Given the description of an element on the screen output the (x, y) to click on. 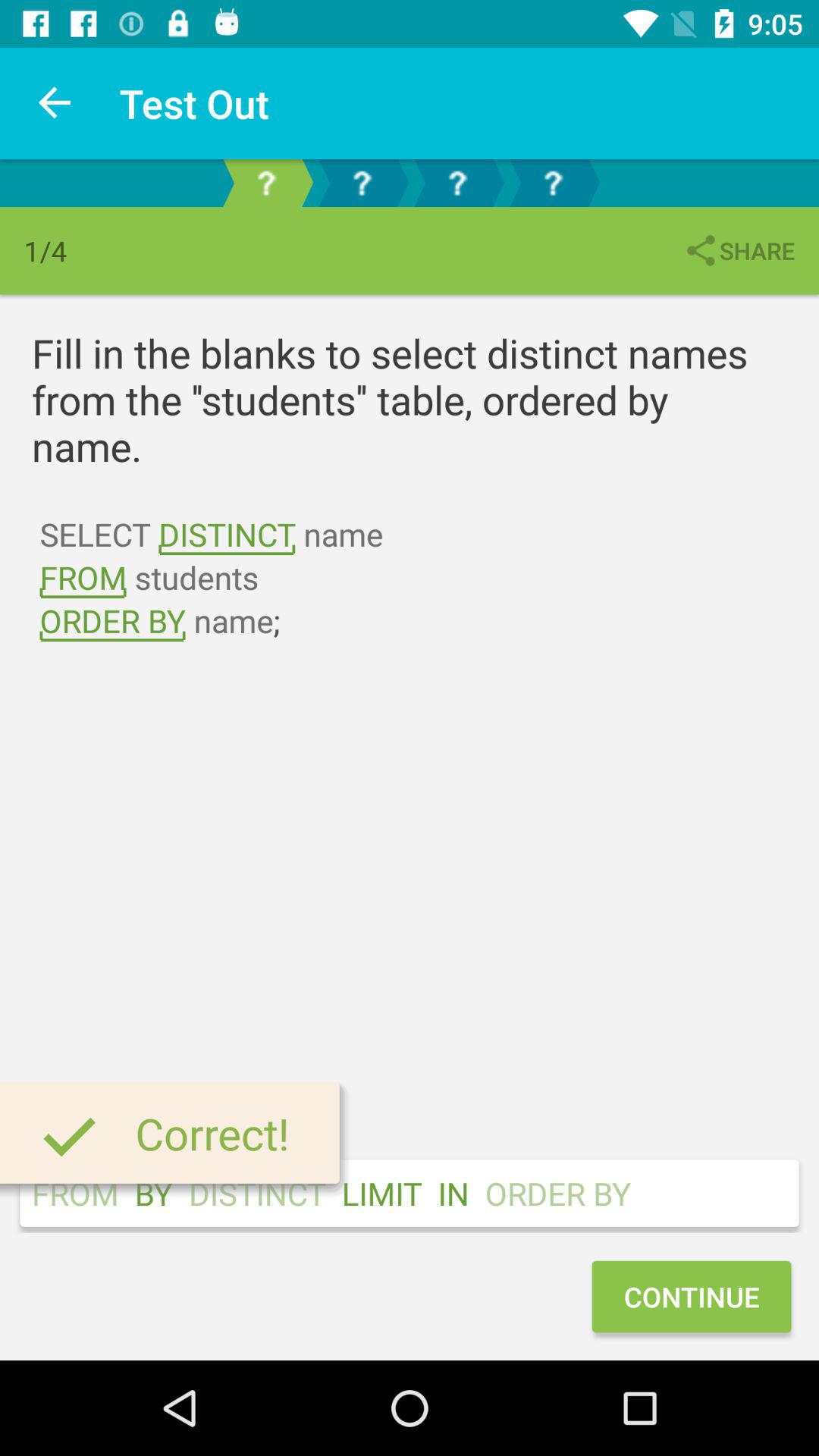
get your help (552, 183)
